Given the description of an element on the screen output the (x, y) to click on. 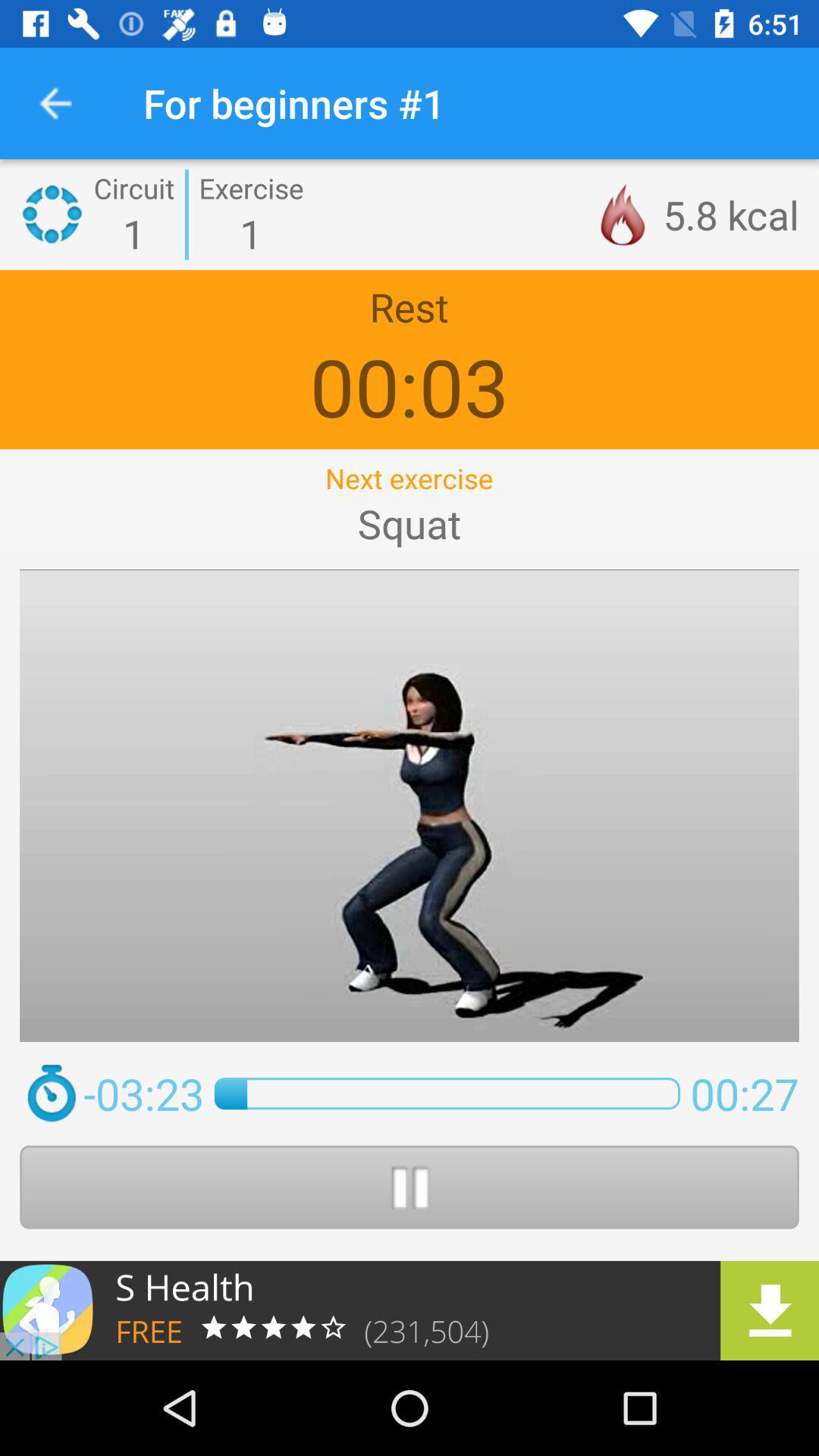
download the application (409, 1310)
